Given the description of an element on the screen output the (x, y) to click on. 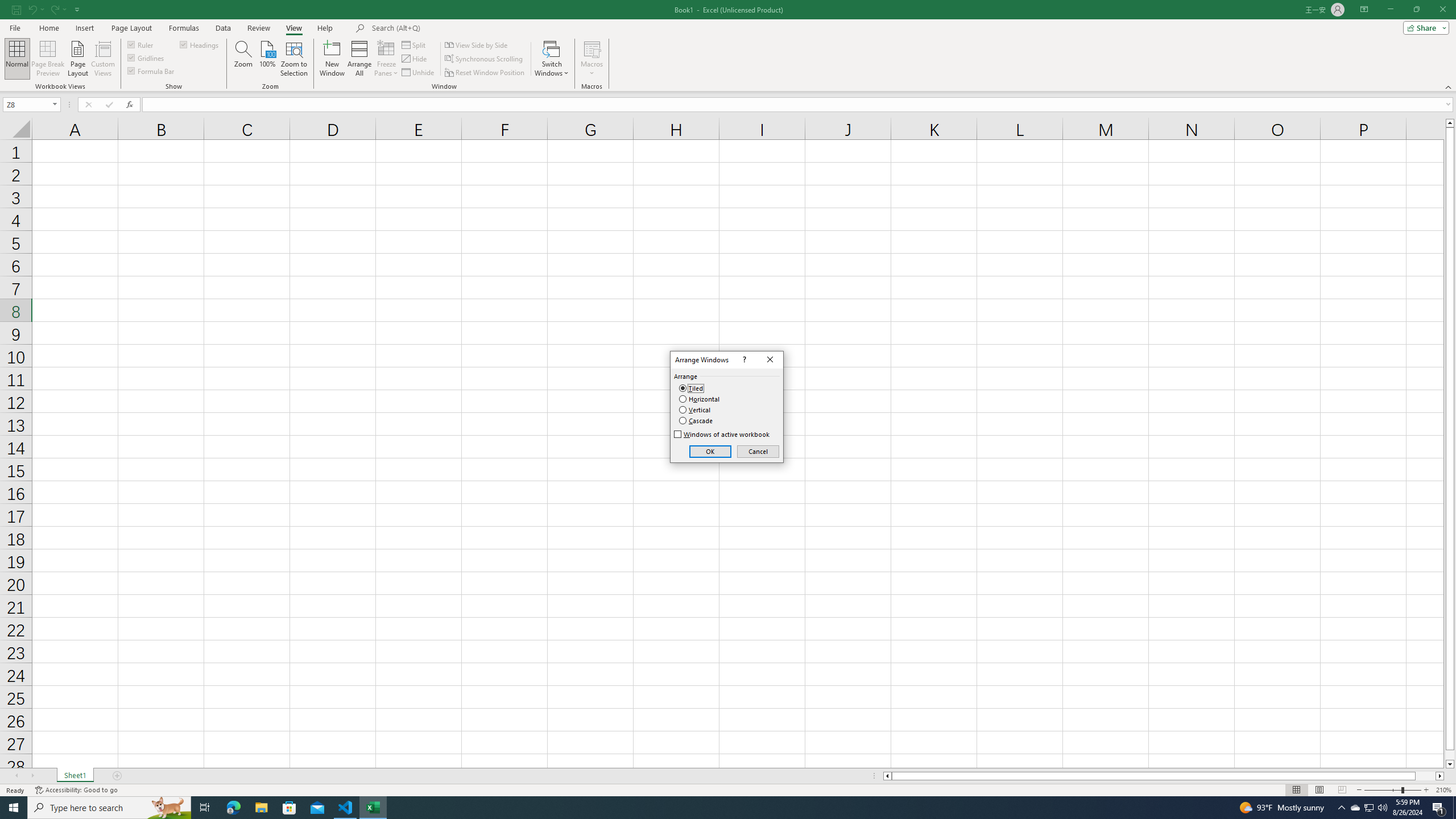
100% (266, 58)
View Macros (591, 48)
Horizontal (699, 398)
Formula Bar (798, 104)
Macros (591, 58)
Synchronous Scrolling (484, 58)
Show desktop (1454, 807)
Formula Bar (151, 69)
